Given the description of an element on the screen output the (x, y) to click on. 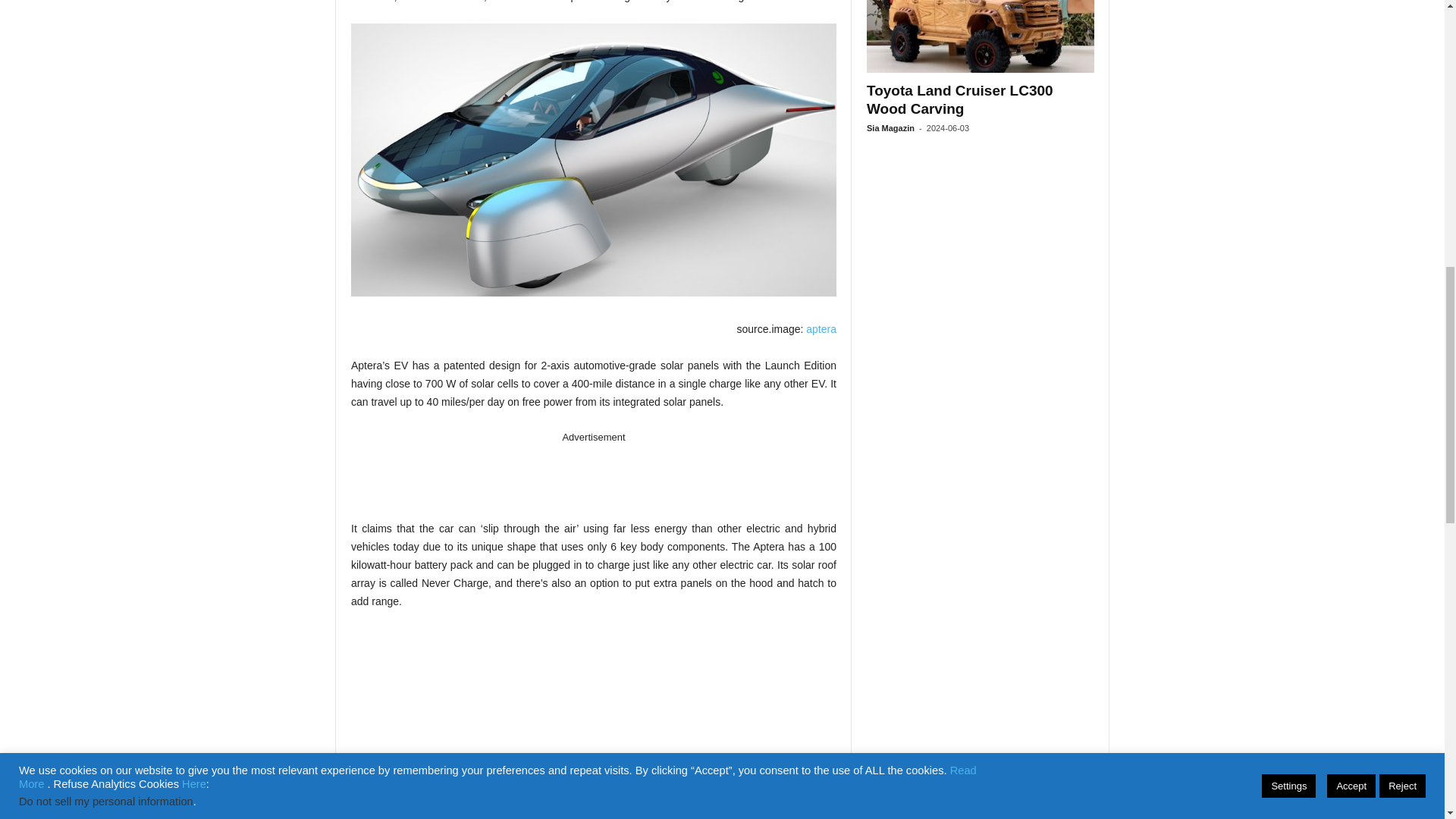
aptera (820, 328)
YouTube video player (592, 723)
